Given the description of an element on the screen output the (x, y) to click on. 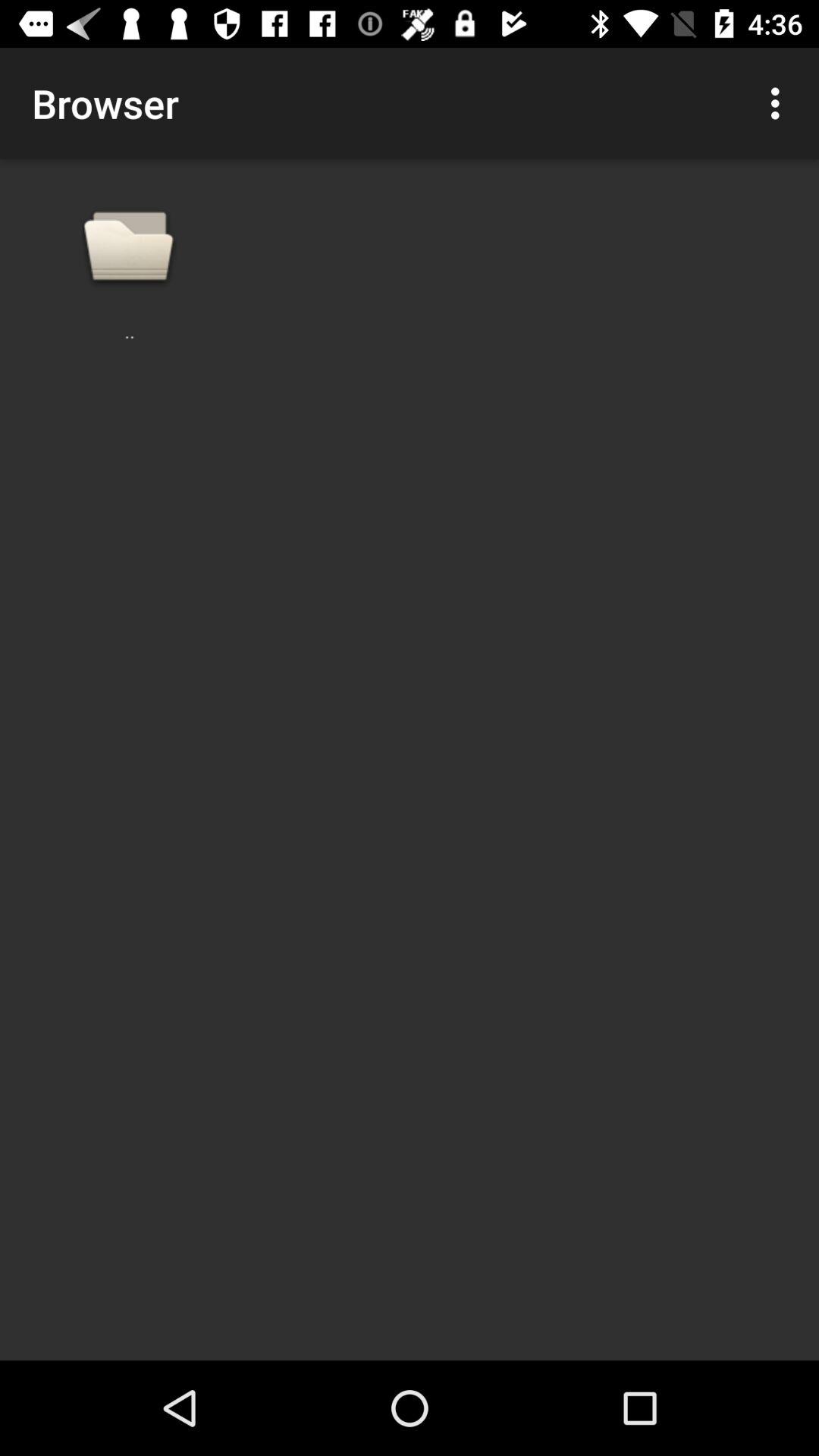
click the icon next to browser (779, 103)
